Given the description of an element on the screen output the (x, y) to click on. 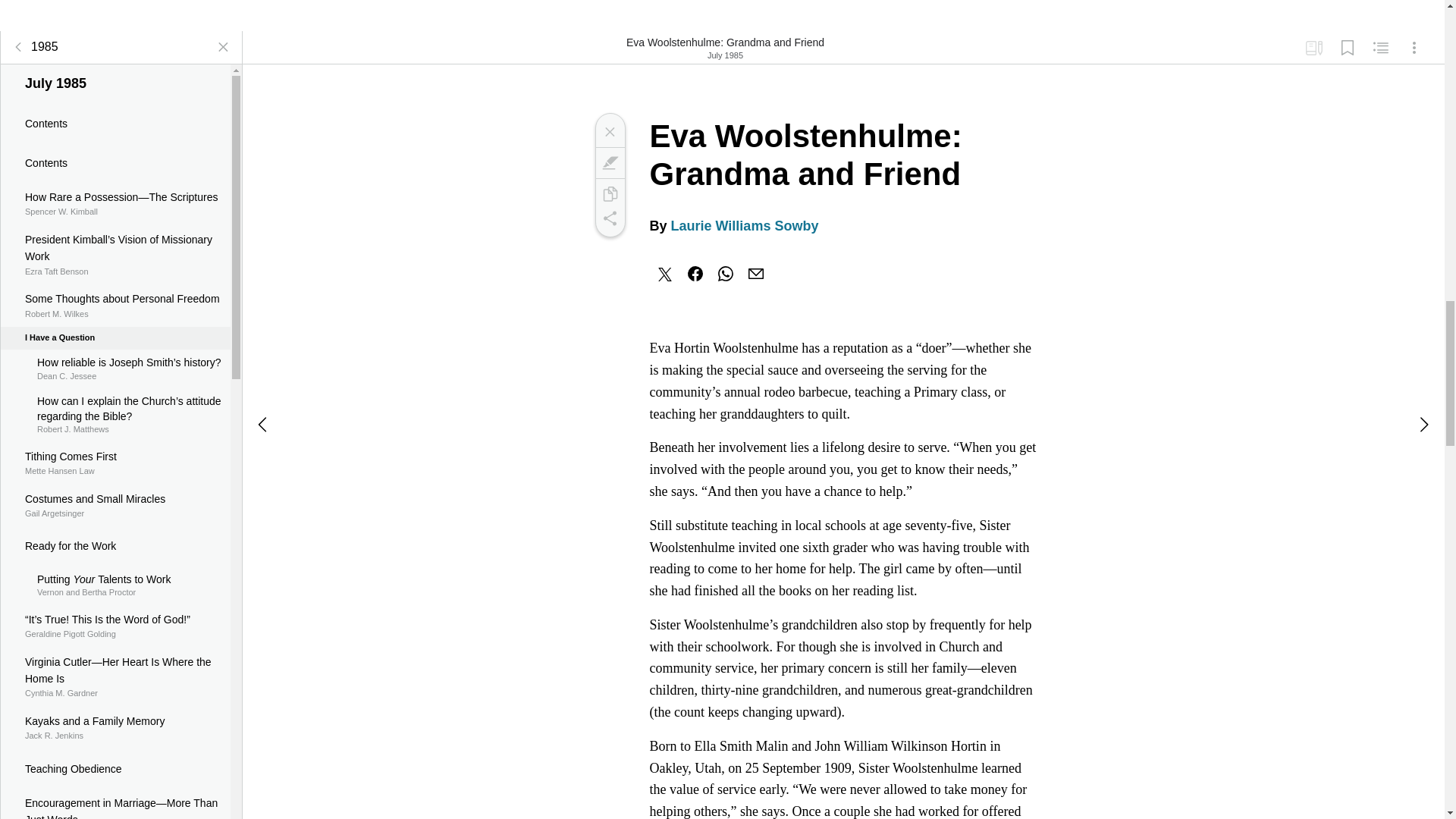
Options (1414, 47)
Contents (115, 162)
Contents (115, 123)
Close (608, 131)
Copy (608, 193)
Teaching Obedience (115, 463)
Ready for the Work (115, 768)
1985 (115, 546)
Study Sets (32, 46)
Bookmarks (1313, 47)
Mark (1347, 47)
Table of Contents (608, 162)
